Given the description of an element on the screen output the (x, y) to click on. 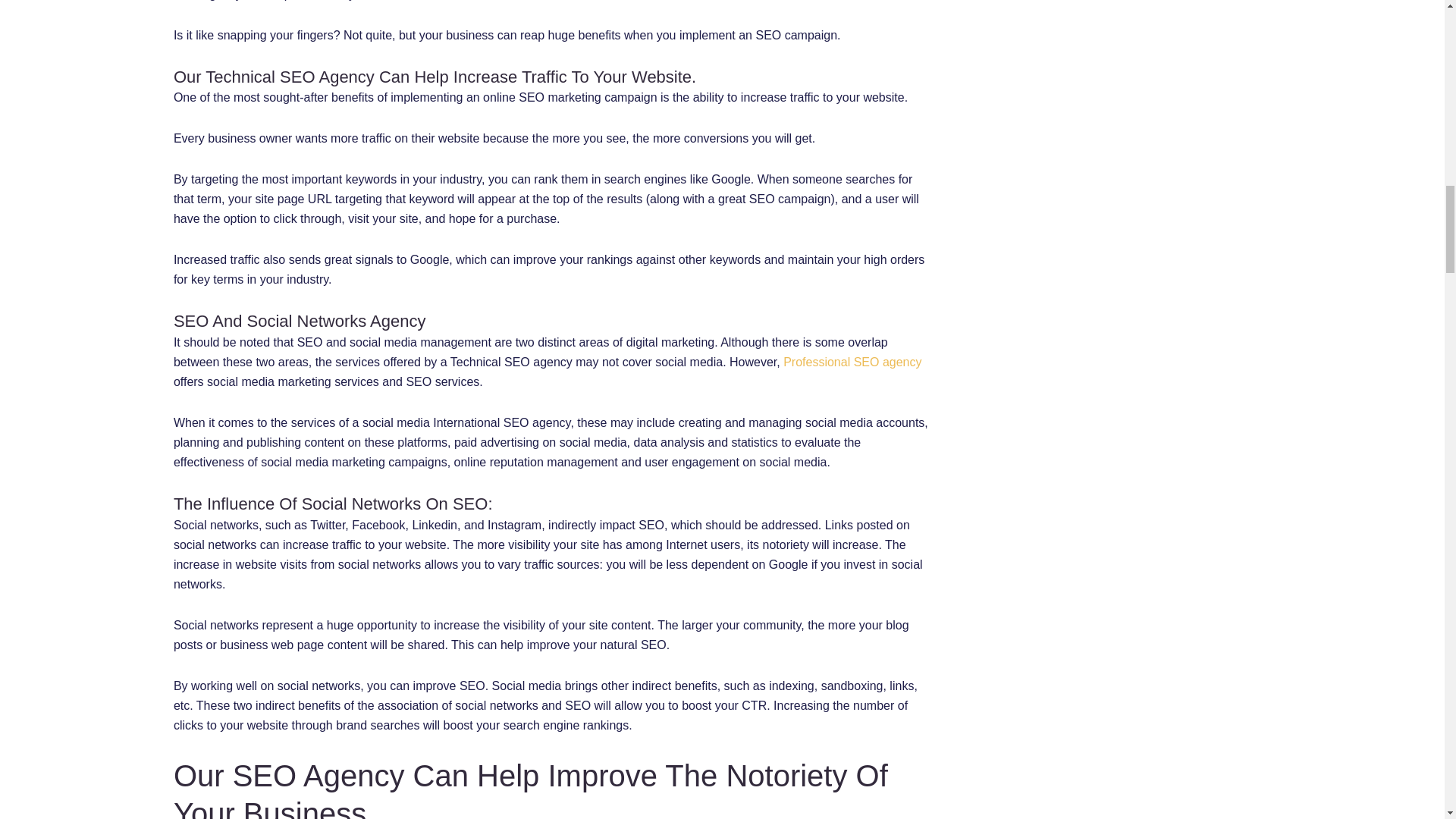
Professional SEO agency (852, 361)
